Given the description of an element on the screen output the (x, y) to click on. 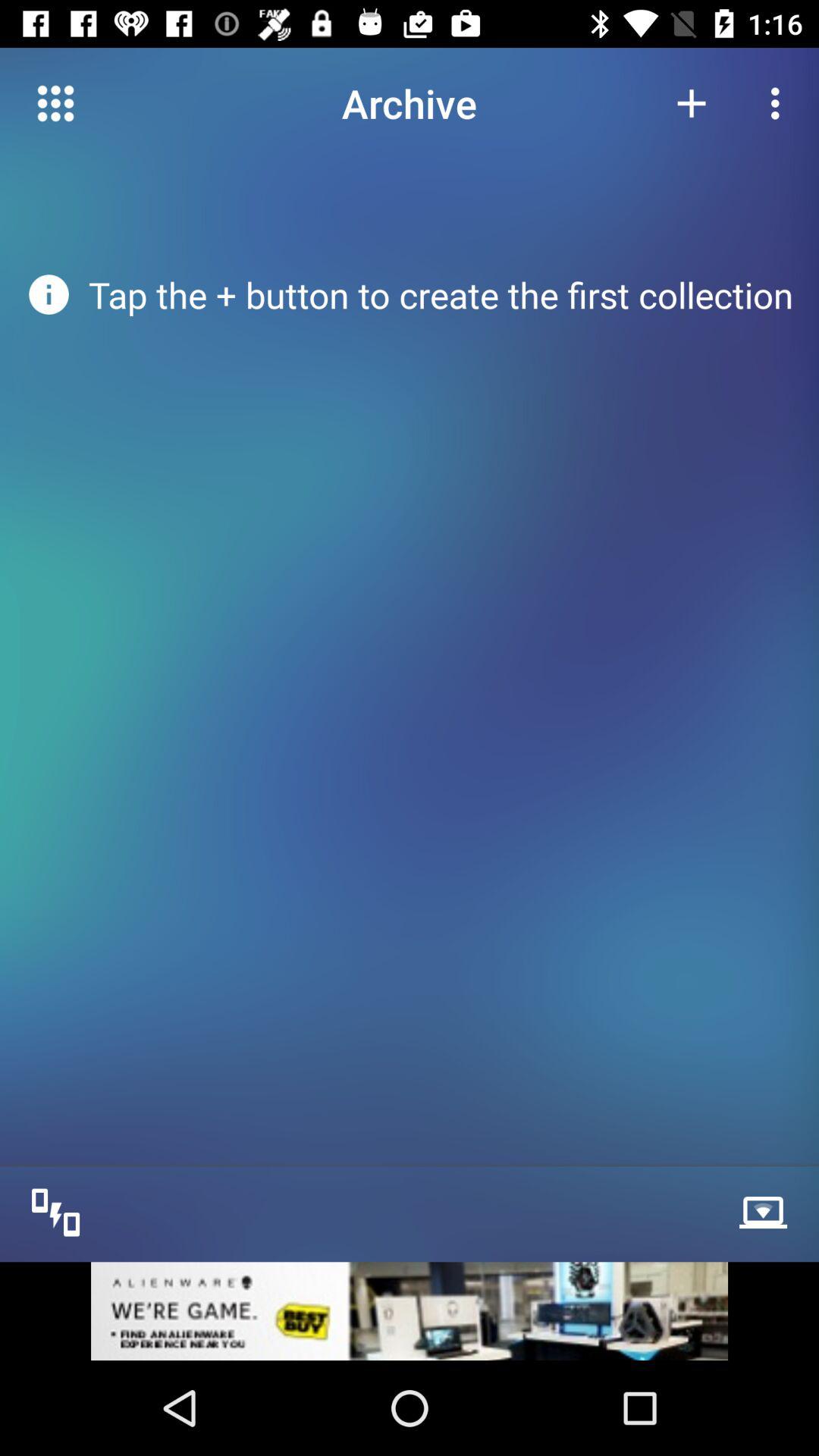
home icon (55, 103)
